Given the description of an element on the screen output the (x, y) to click on. 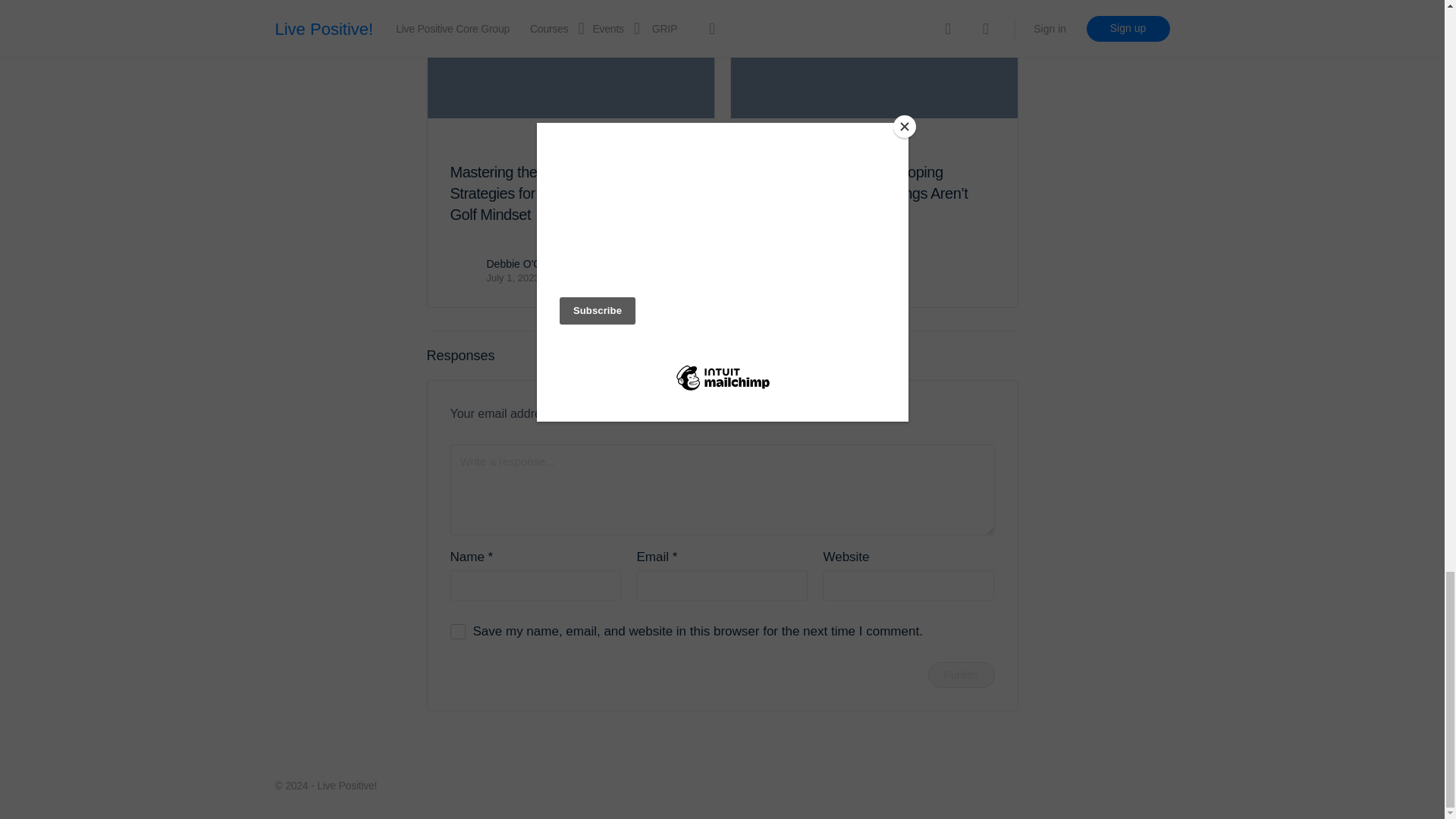
Publish (961, 674)
